Given the description of an element on the screen output the (x, y) to click on. 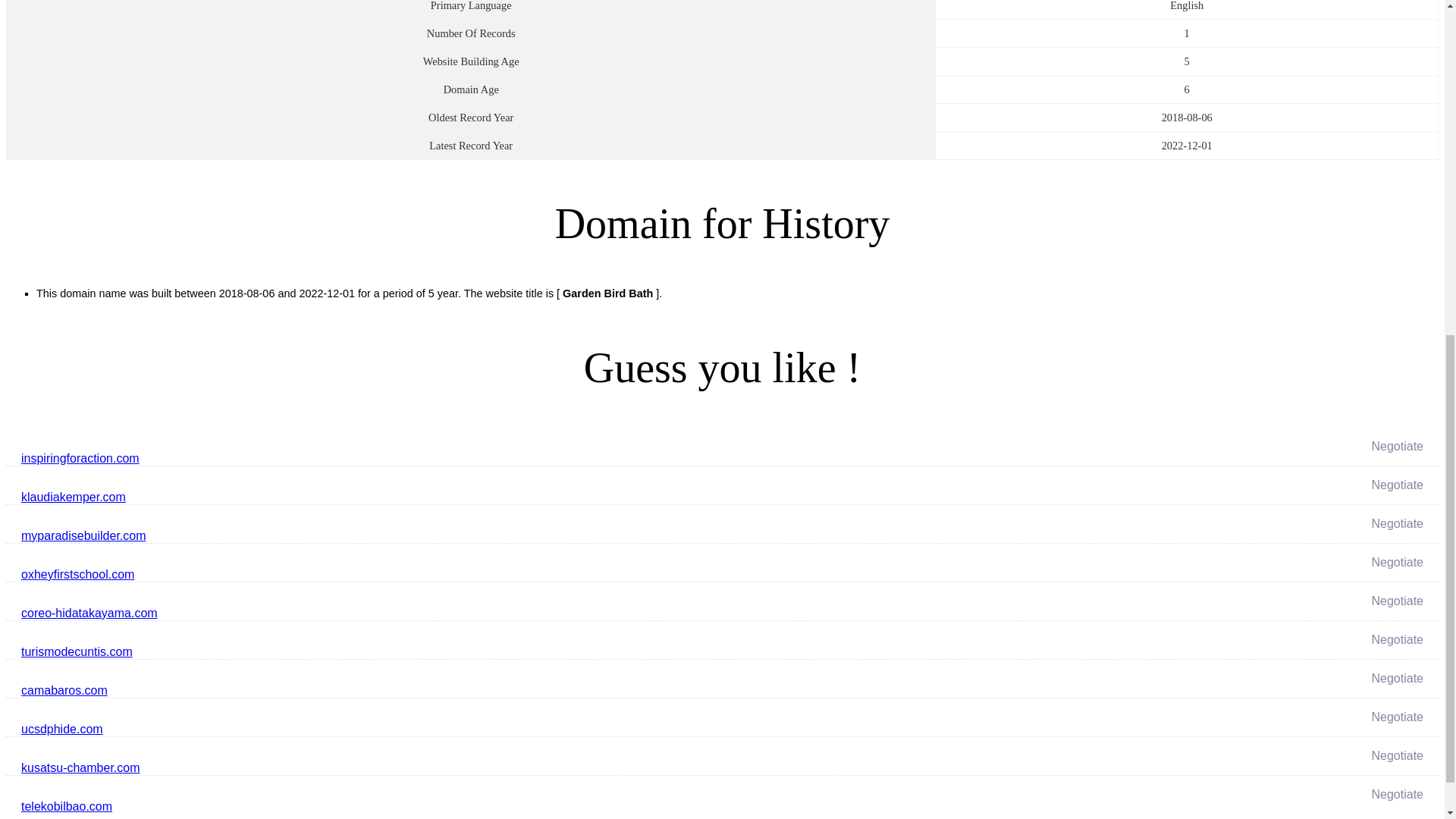
myparadisebuilder.com (483, 535)
oxheyfirstschool.com (483, 574)
ucsdphide.com (483, 729)
oxheyfirstschool.com (483, 574)
turismodecuntis.com (483, 651)
coreo-hidatakayama.com (483, 613)
myparadisebuilder.com (483, 536)
turismodecuntis.com (483, 651)
oxheyfirstschool.com (483, 574)
inspiringforaction.com (483, 458)
